Given the description of an element on the screen output the (x, y) to click on. 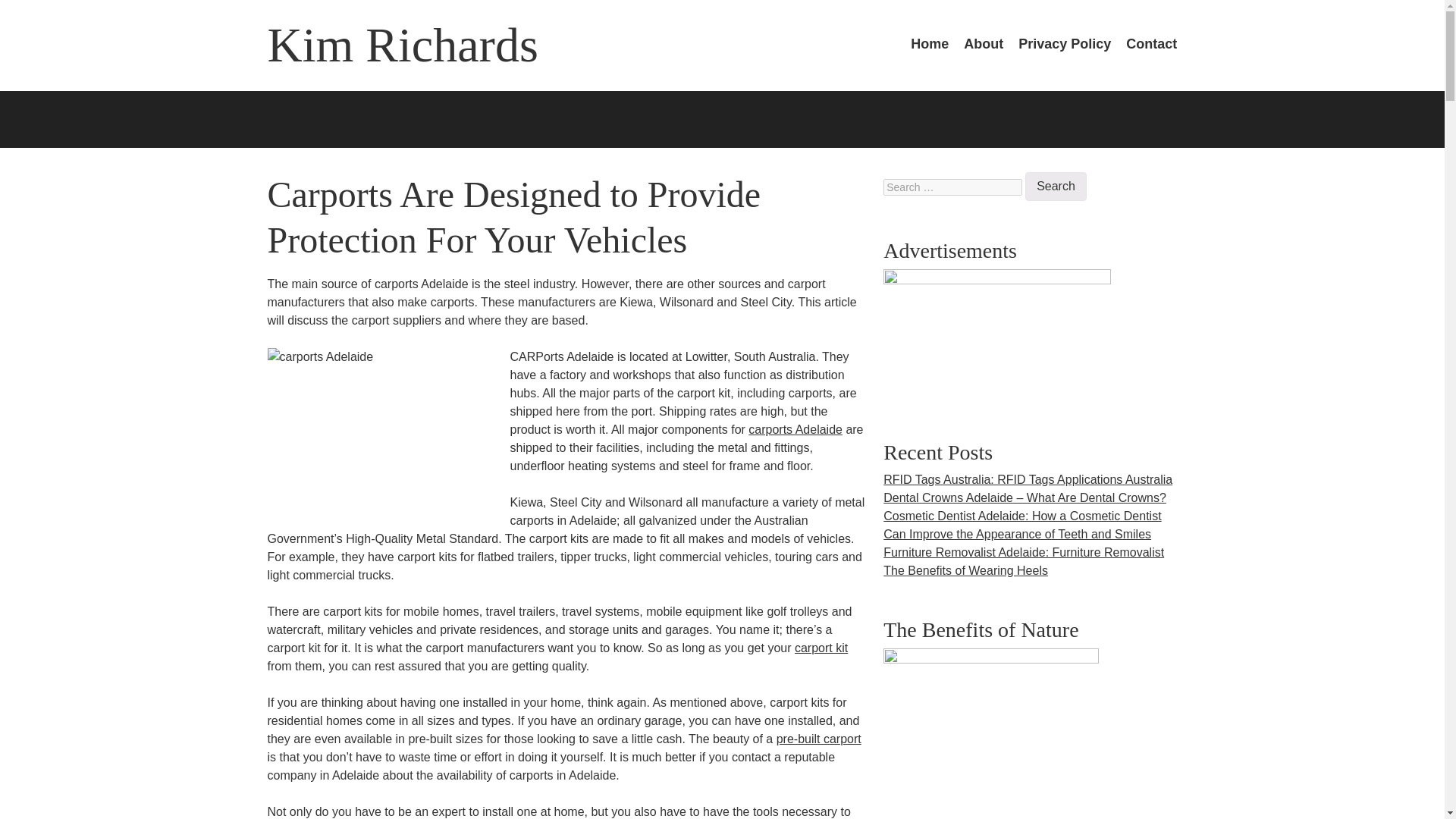
pre-built carport (818, 738)
Contact (1150, 44)
Kim Richards (401, 45)
Search (1055, 185)
Search (1055, 185)
Home (930, 44)
Privacy Policy (1063, 44)
About (983, 44)
carport kit (820, 647)
carports Adelaide (795, 429)
Search (1055, 185)
Furniture Removalist Adelaide: Furniture Removalist (1023, 552)
Kim Richards (401, 45)
RFID Tags Australia: RFID Tags Applications Australia (1027, 479)
